Given the description of an element on the screen output the (x, y) to click on. 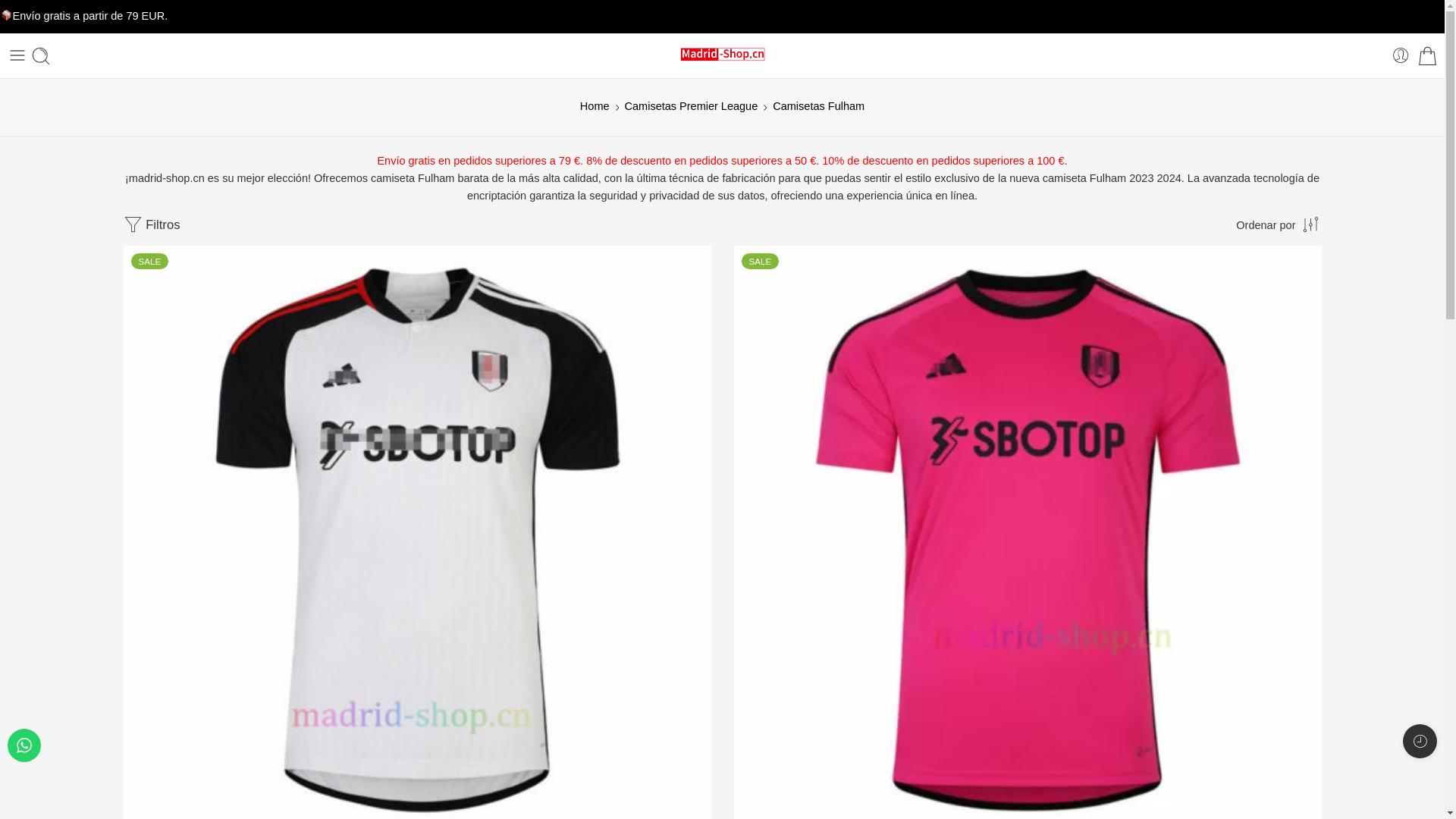
Recently Viewed Element type: hover (1419, 741)
WhatsApp Element type: hover (23, 745)
Camisetas Premier League Element type: text (691, 106)
Home Element type: text (594, 106)
Carro Element type: hover (1427, 54)
Filtros Element type: text (150, 224)
